Given the description of an element on the screen output the (x, y) to click on. 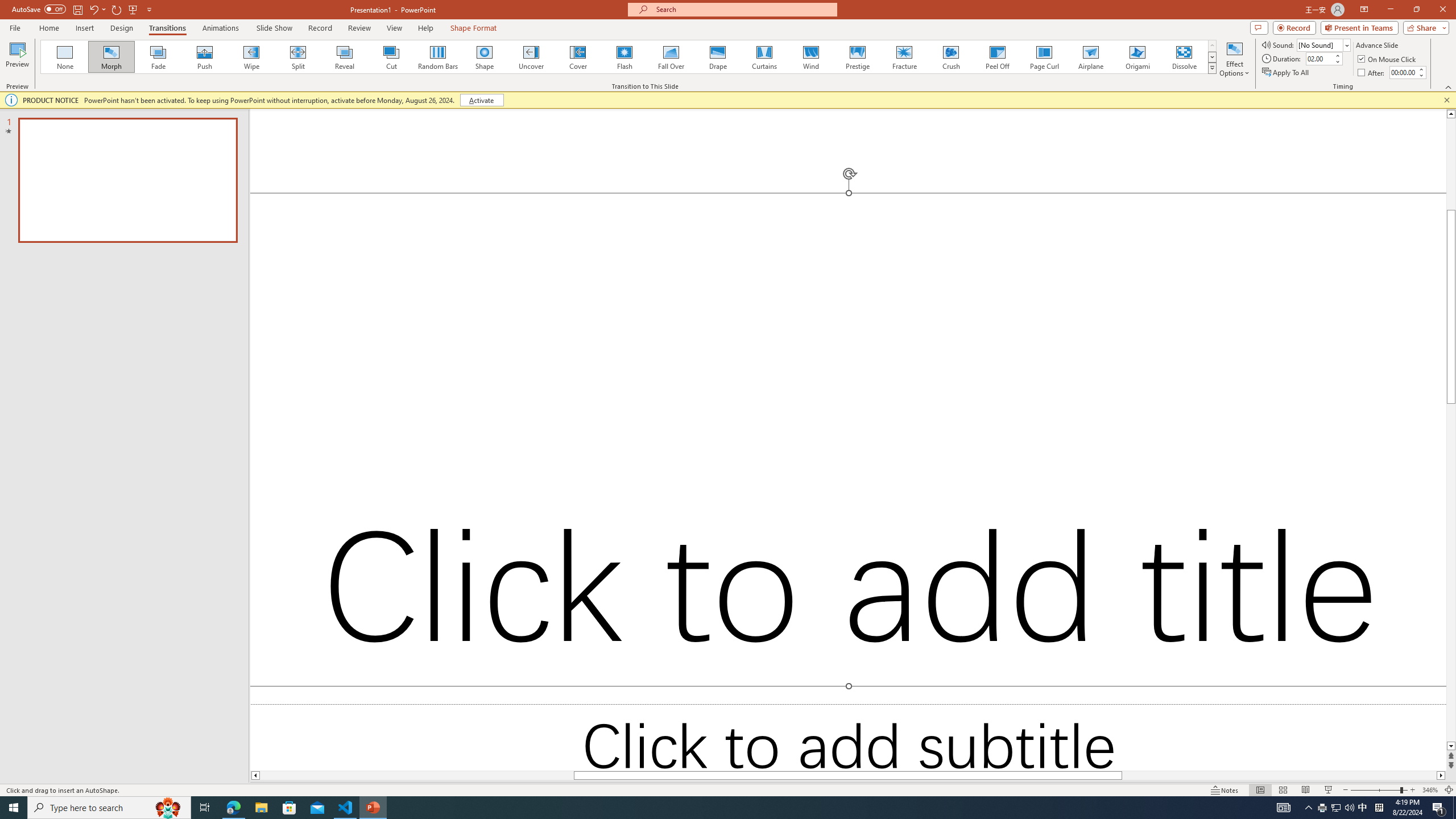
Peel Off (997, 56)
Apply To All (1286, 72)
Random Bars (437, 56)
Effect Options (1234, 58)
Prestige (857, 56)
Curtains (764, 56)
Wipe (251, 56)
Sound (1324, 44)
